Given the description of an element on the screen output the (x, y) to click on. 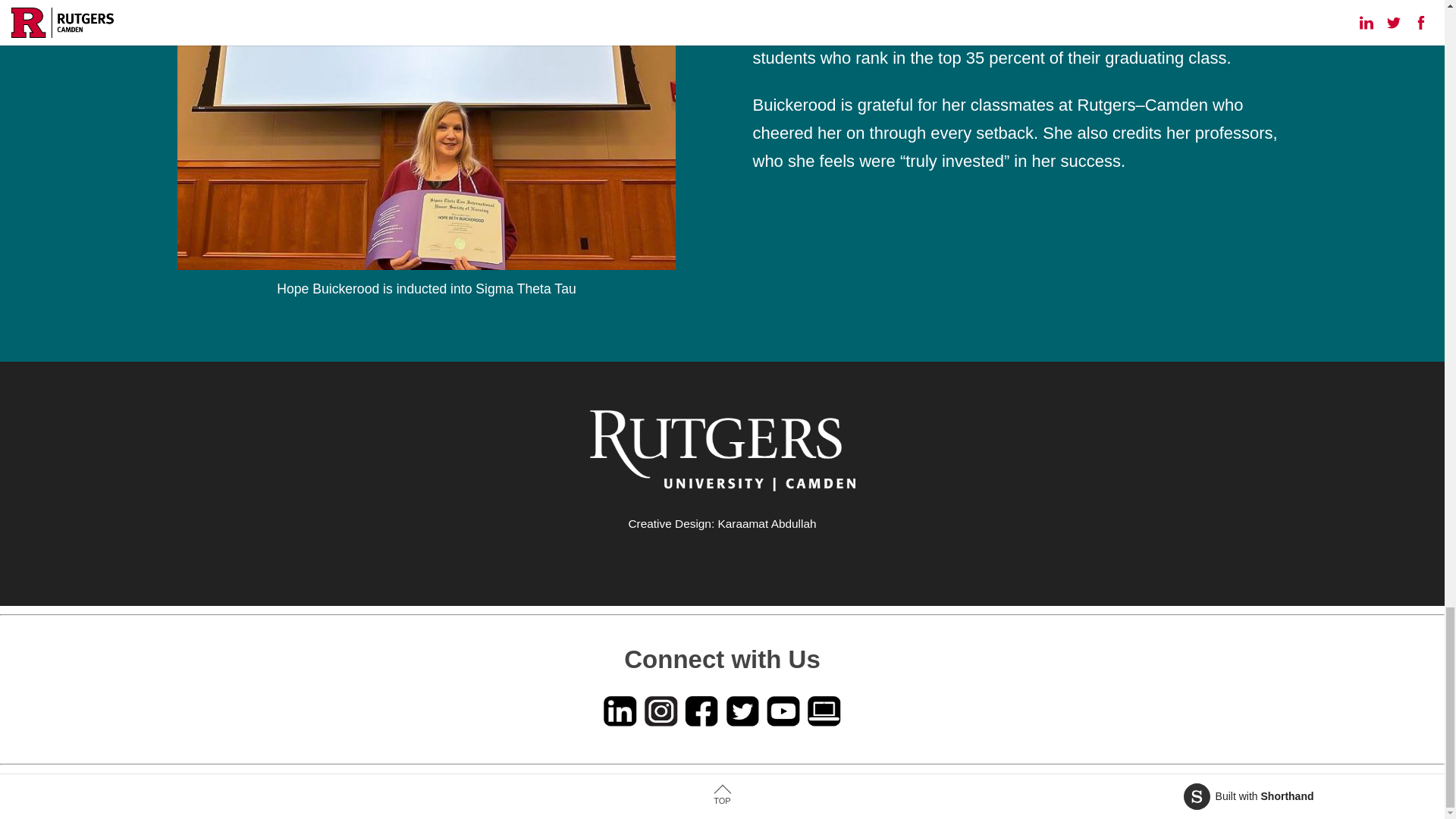
TOP (1248, 795)
